Given the description of an element on the screen output the (x, y) to click on. 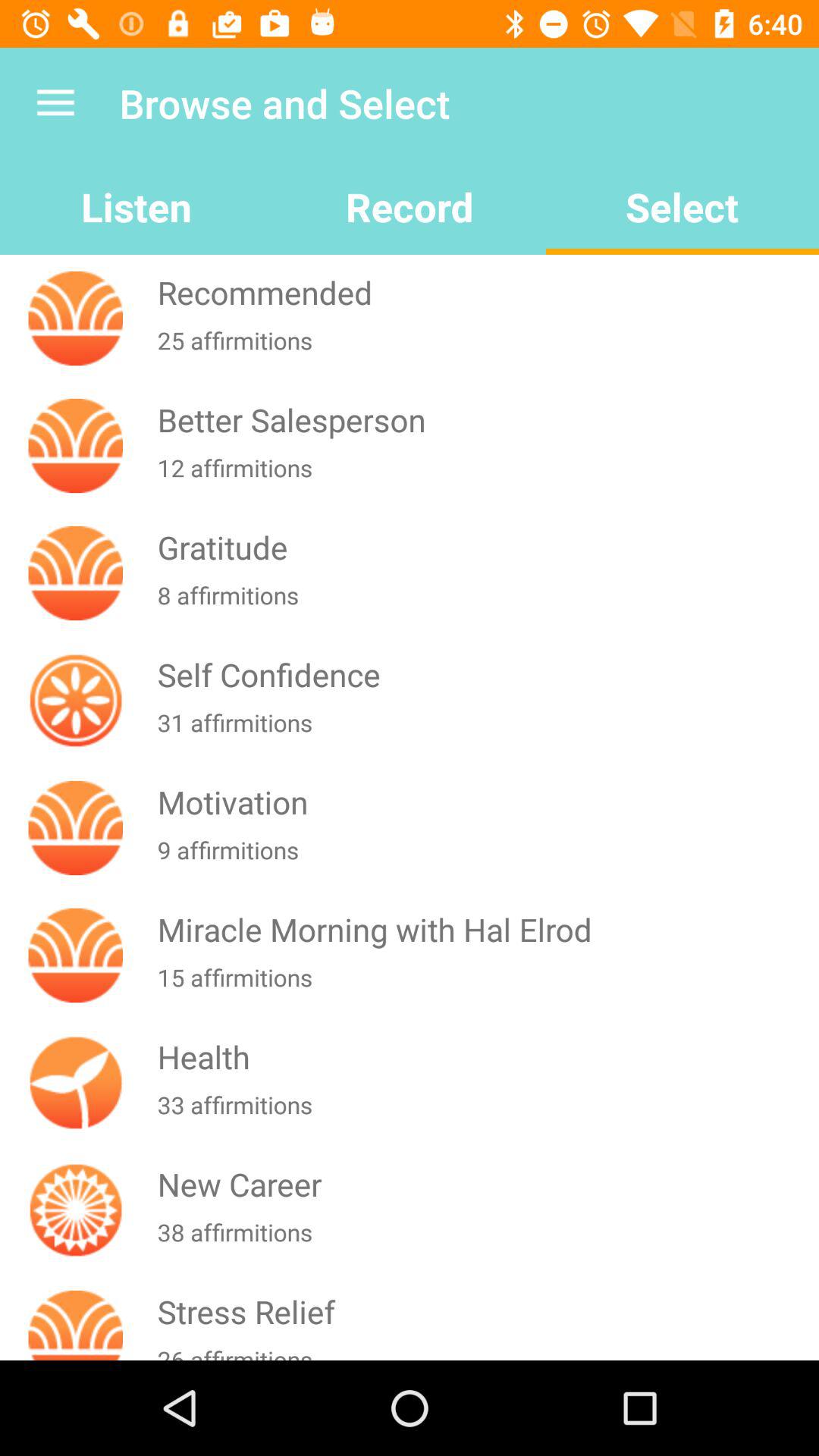
turn on the icon above the listen icon (55, 103)
